Given the description of an element on the screen output the (x, y) to click on. 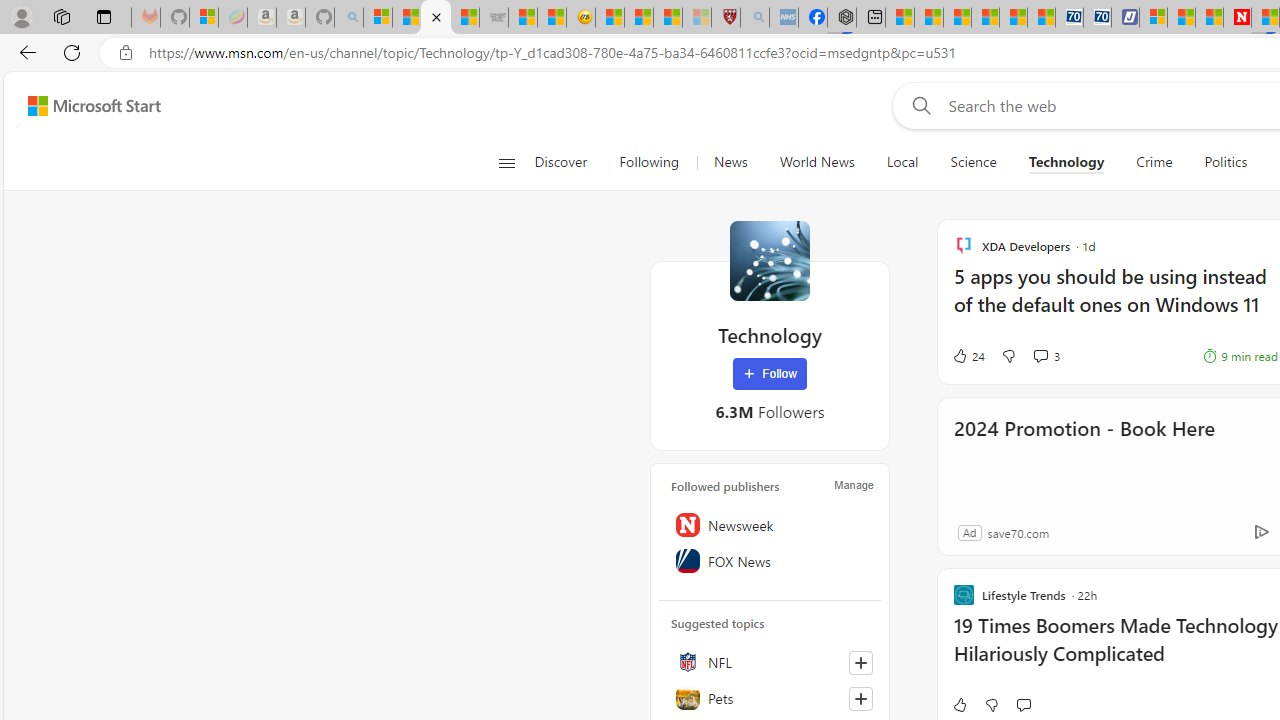
Follow this topic (860, 698)
